Given the description of an element on the screen output the (x, y) to click on. 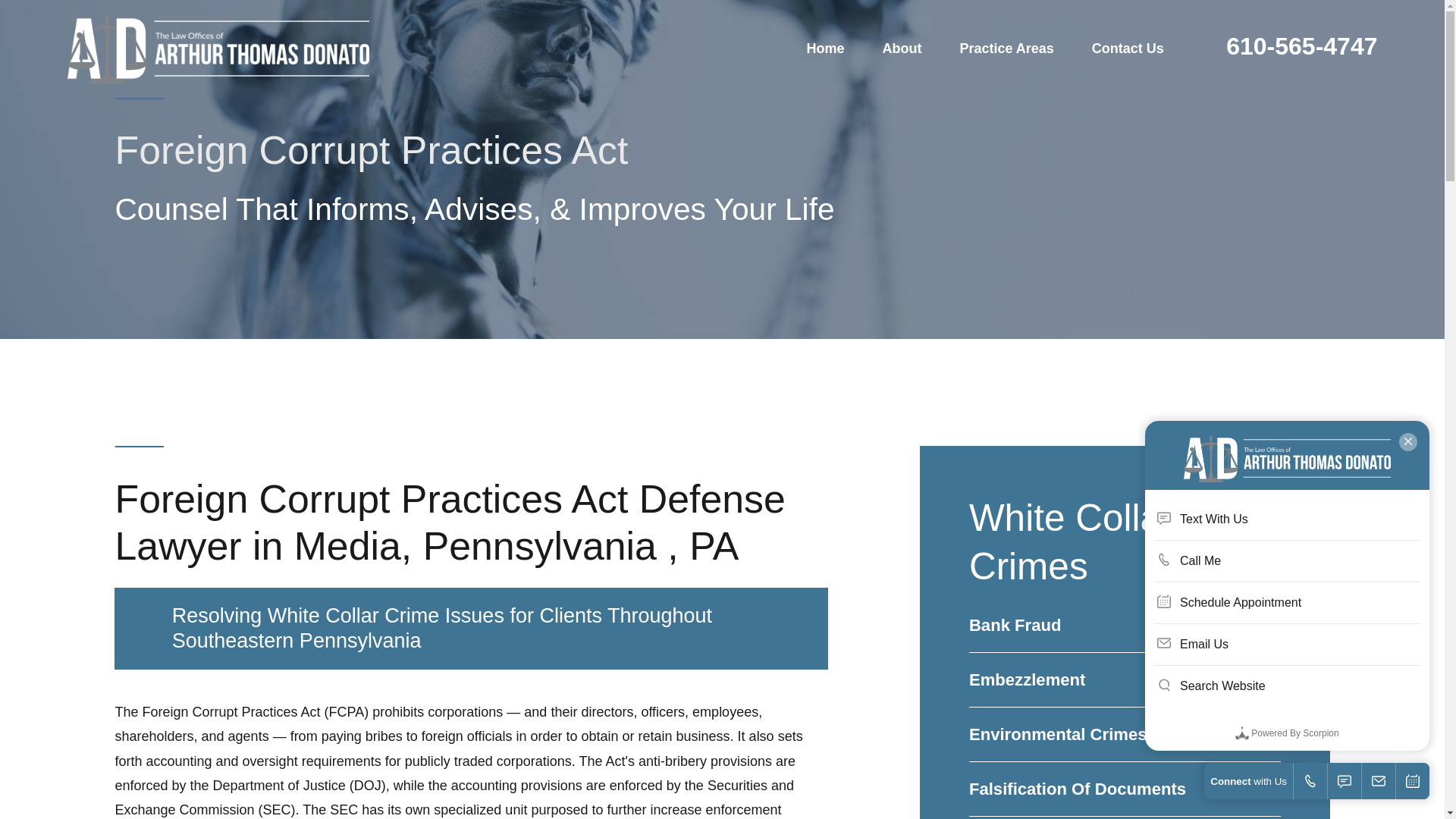
About (901, 48)
Contact Us (1127, 48)
610-565-4747 (1301, 45)
Home (825, 48)
Home (217, 48)
Practice Areas (1005, 48)
